Given the description of an element on the screen output the (x, y) to click on. 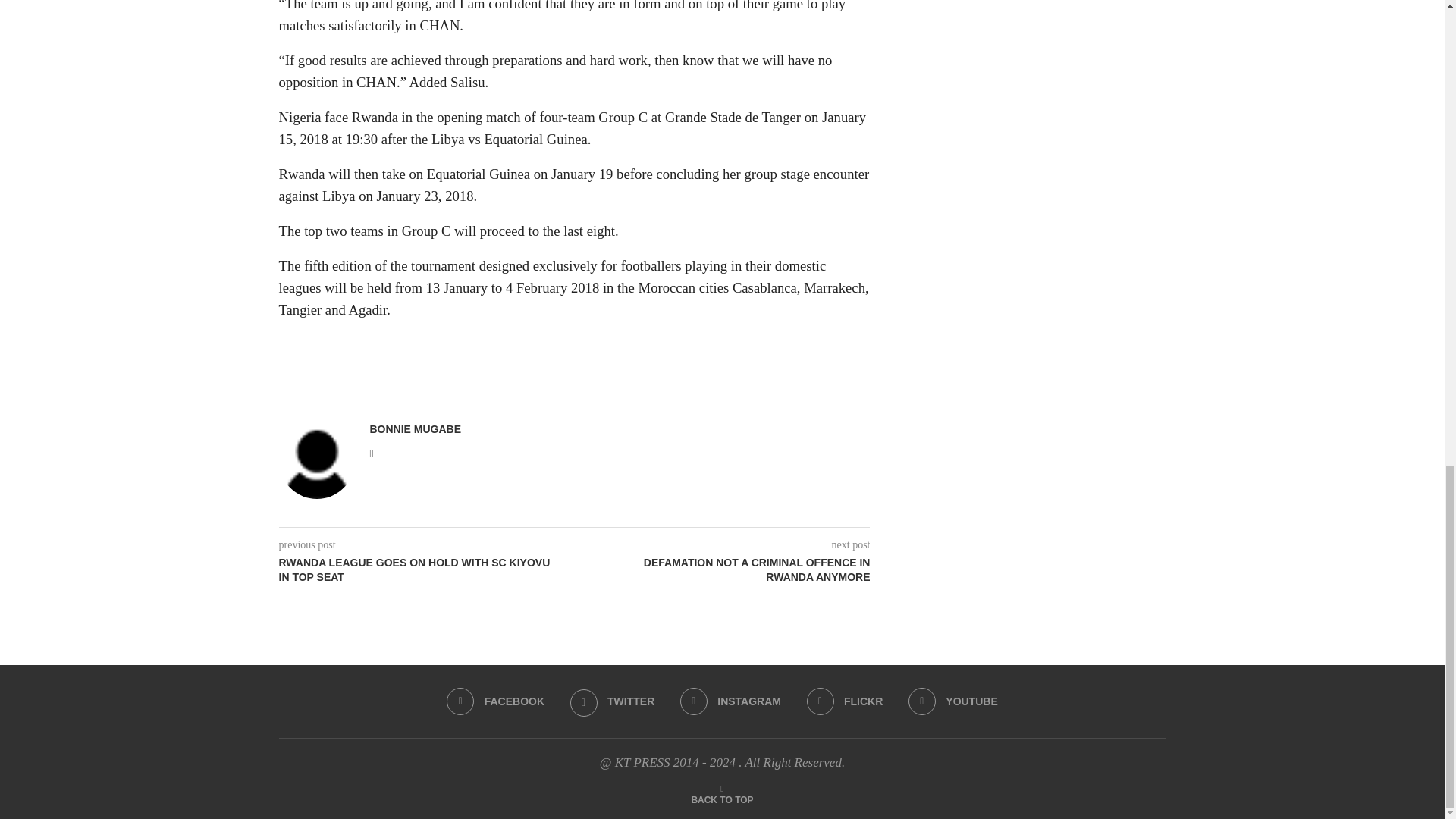
Author Bonnie Mugabe (415, 428)
BONNIE MUGABE (415, 428)
DEFAMATION NOT A CRIMINAL OFFENCE IN RWANDA ANYMORE (722, 570)
RWANDA LEAGUE GOES ON HOLD WITH SC KIYOVU IN TOP SEAT (427, 570)
